Given the description of an element on the screen output the (x, y) to click on. 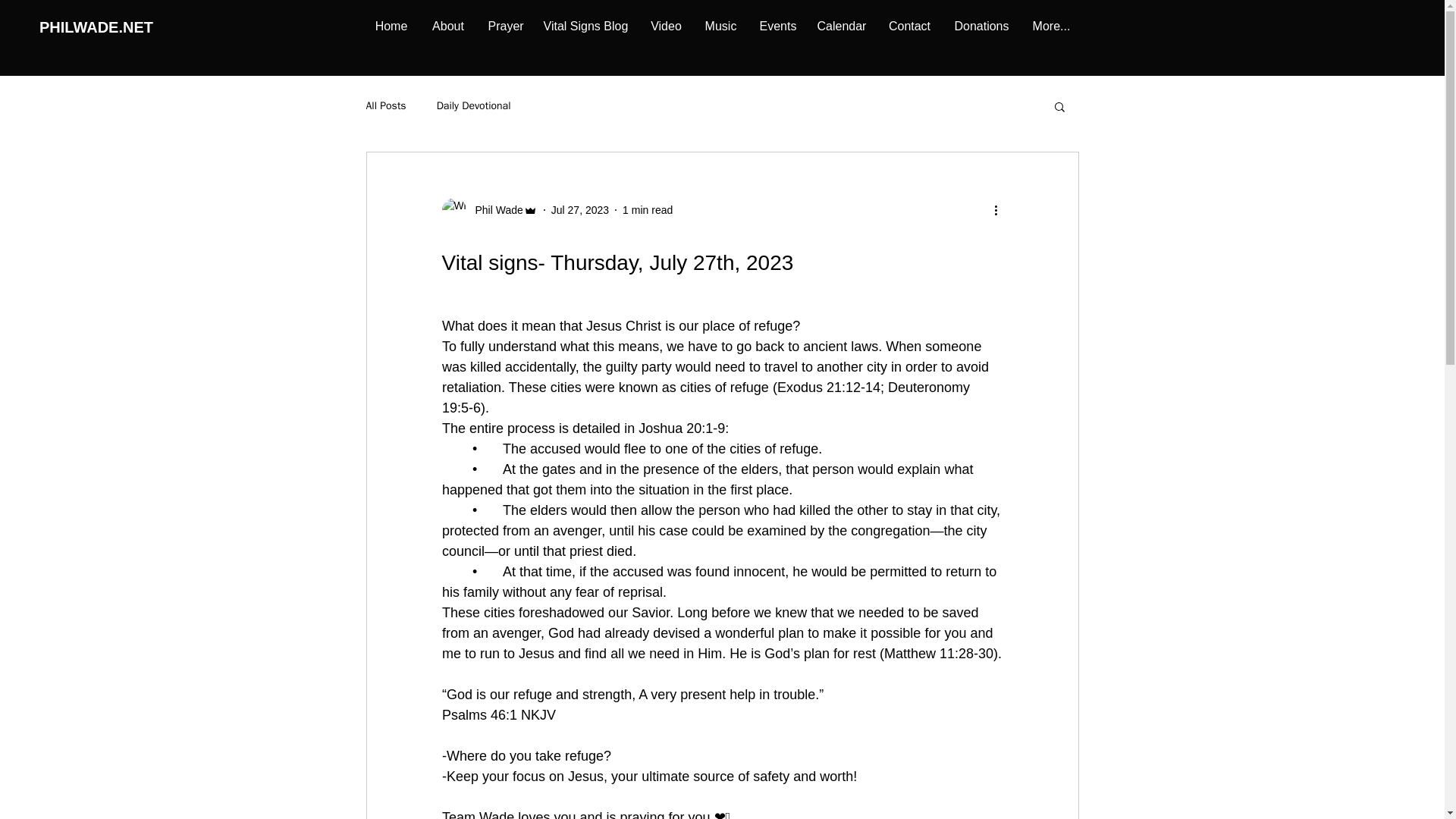
Events (776, 26)
Daily Devotional (473, 106)
Vital Signs Blog (585, 26)
Video (666, 26)
1 min read (647, 209)
PHILWADE.NET (95, 26)
All Posts (385, 106)
Phil Wade (489, 209)
Prayer (503, 26)
Jul 27, 2023 (579, 209)
Calendar (840, 26)
Home (390, 26)
Phil Wade (493, 209)
Contact (909, 26)
Music (720, 26)
